Given the description of an element on the screen output the (x, y) to click on. 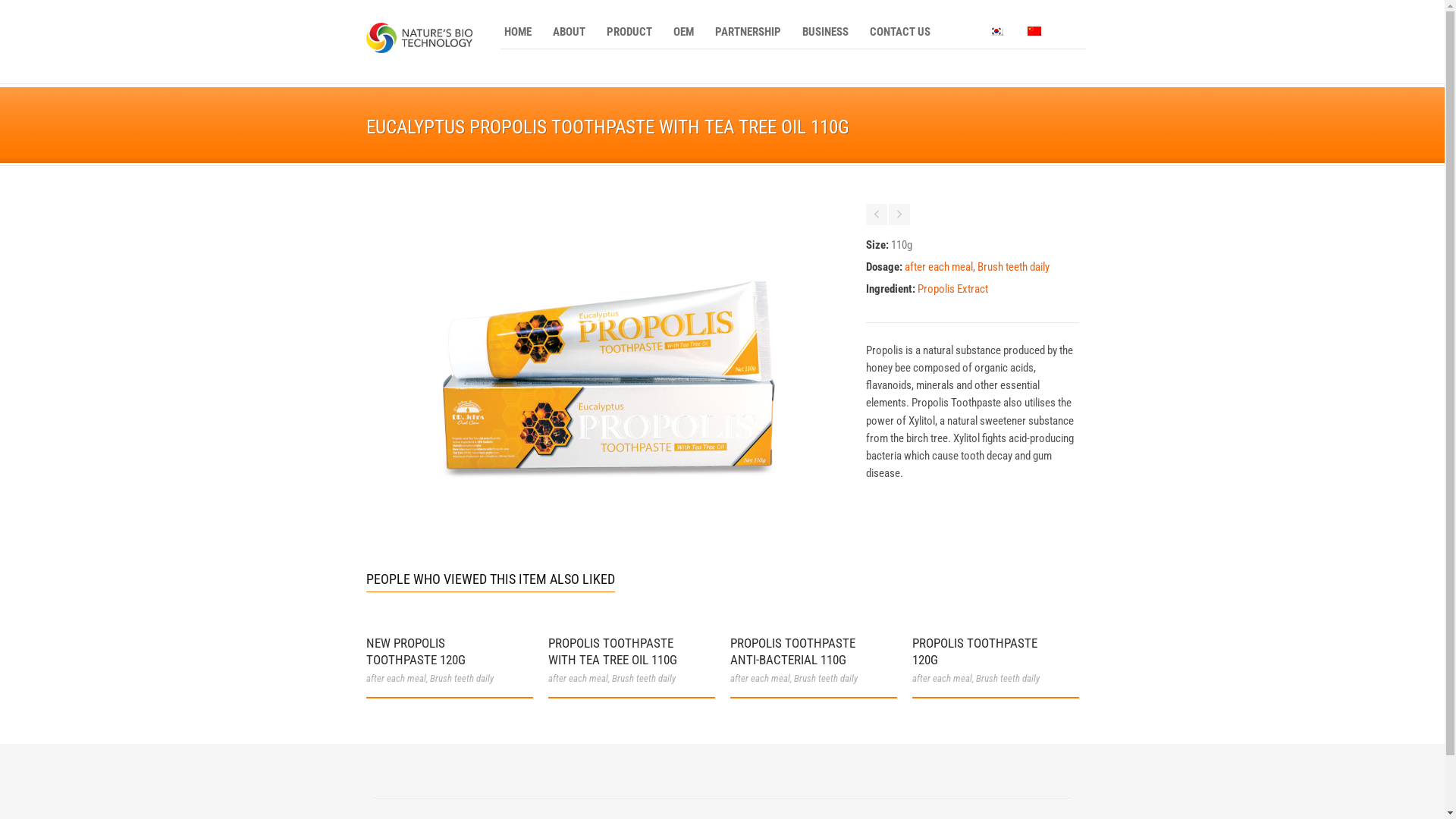
after each meal Element type: text (941, 678)
ABOUT Element type: text (569, 31)
after each meal Element type: text (759, 678)
BUSINESS Element type: text (824, 31)
after each meal Element type: text (938, 266)
Brush teeth daily Element type: text (1013, 266)
PROPOLIS TOOTHPASTE ANTI-BACTERIAL 110G Element type: text (791, 651)
Brush teeth daily Element type: text (642, 678)
PROPOLIS TOOTHPASTE 120G Element type: text (973, 651)
Brush teeth daily Element type: text (460, 678)
HOME Element type: text (517, 31)
Brush teeth daily Element type: text (824, 678)
Eucalyptus Propolis Toothpaste with tea tree oil 110g Element type: hover (607, 523)
OEM Element type: text (682, 31)
CONTACT US Element type: text (900, 31)
NEW PROPOLIS TOOTHPASTE 120G Element type: text (414, 651)
Brush teeth daily Element type: text (1006, 678)
PRODUCT Element type: text (628, 31)
PROPOLIS TOOTHPASTE WITH TEA TREE OIL 110G Element type: text (611, 651)
after each meal Element type: text (577, 678)
Propolis Extract Element type: text (952, 288)
after each meal Element type: text (395, 678)
PARTNERSHIP Element type: text (747, 31)
